Given the description of an element on the screen output the (x, y) to click on. 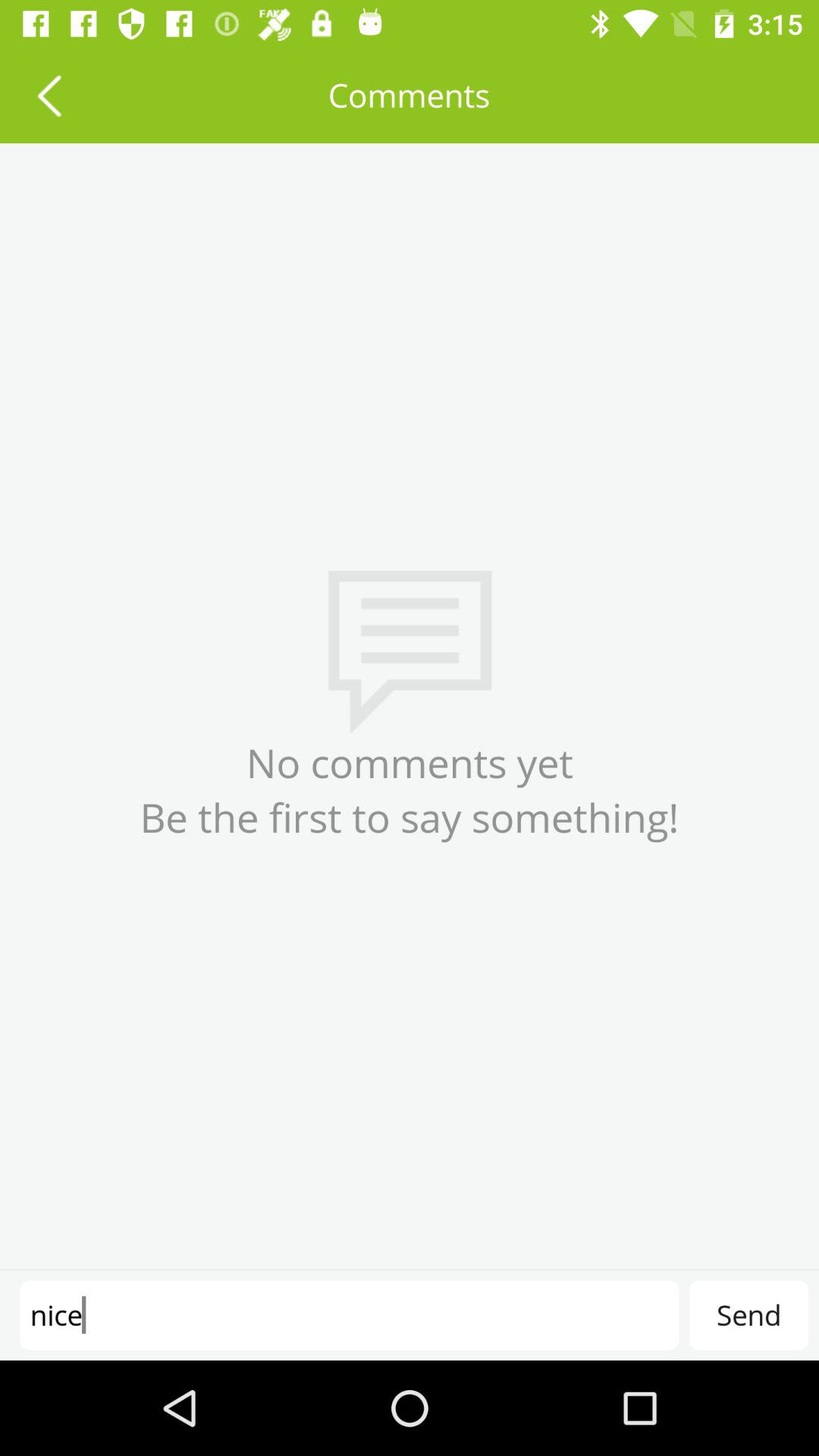
press the item to the left of send icon (349, 1315)
